Given the description of an element on the screen output the (x, y) to click on. 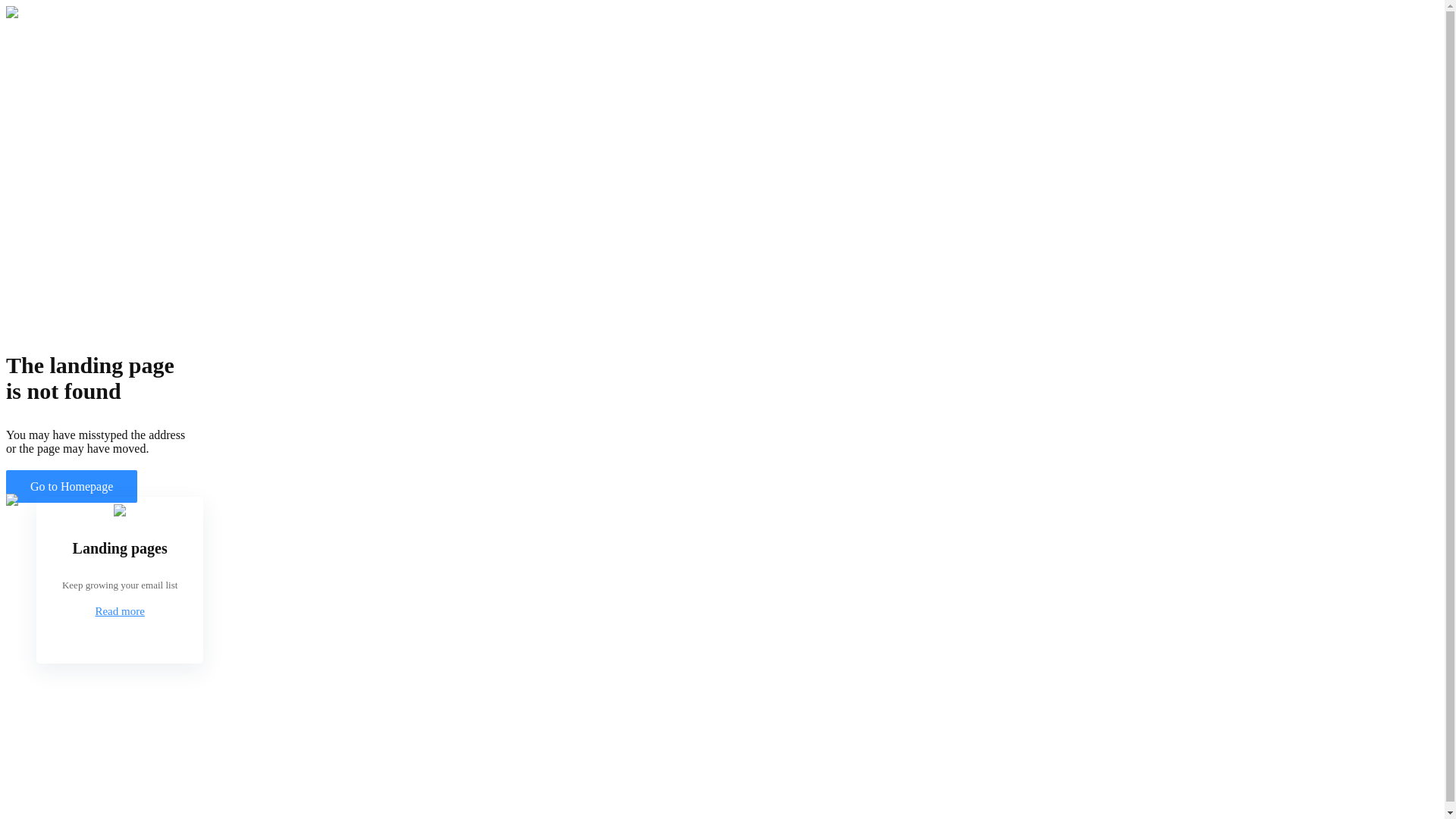
Read more Element type: text (119, 611)
Go to Homepage Element type: text (71, 486)
